Given the description of an element on the screen output the (x, y) to click on. 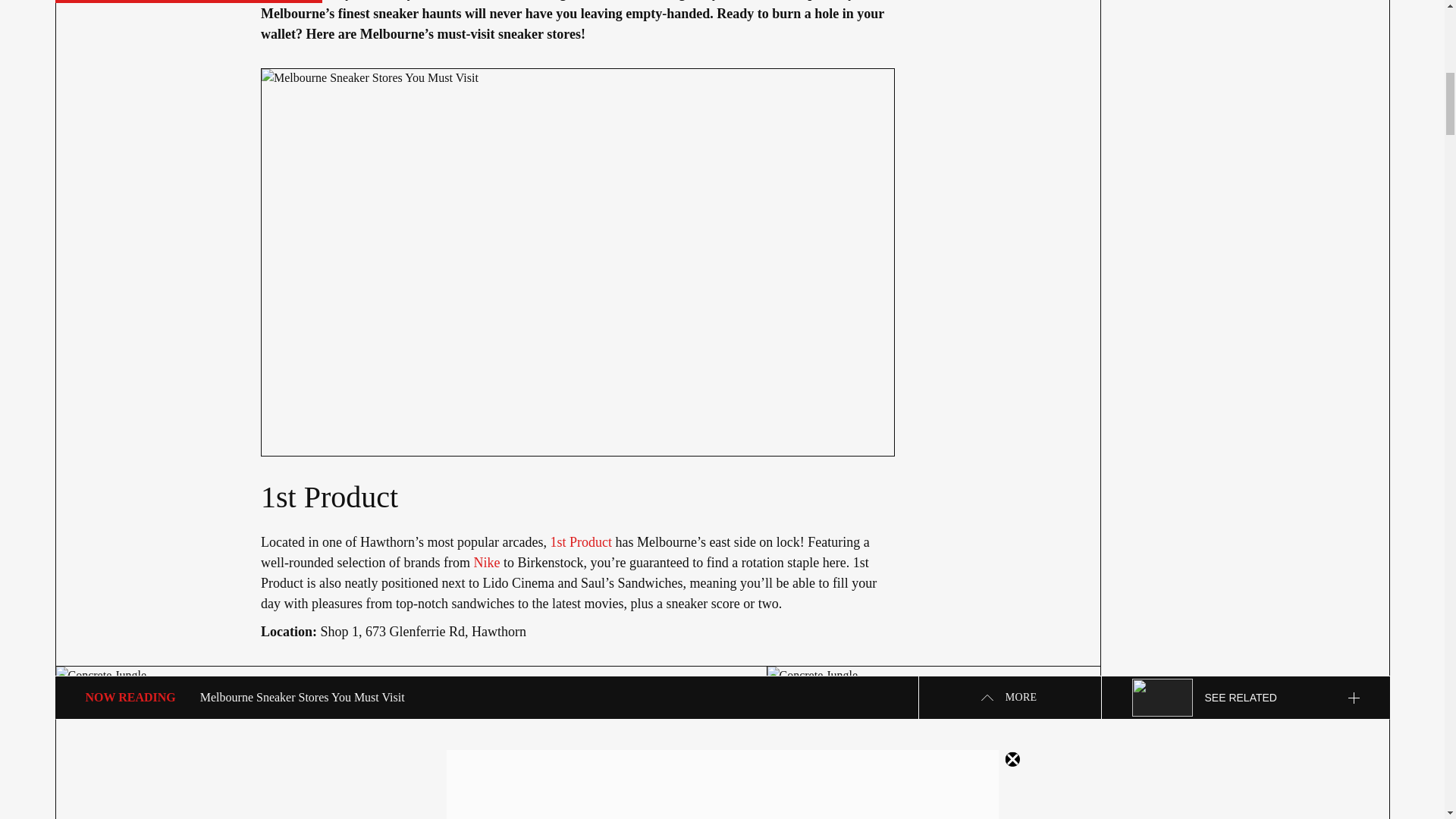
Nike (486, 562)
1st Product (580, 541)
